Given the description of an element on the screen output the (x, y) to click on. 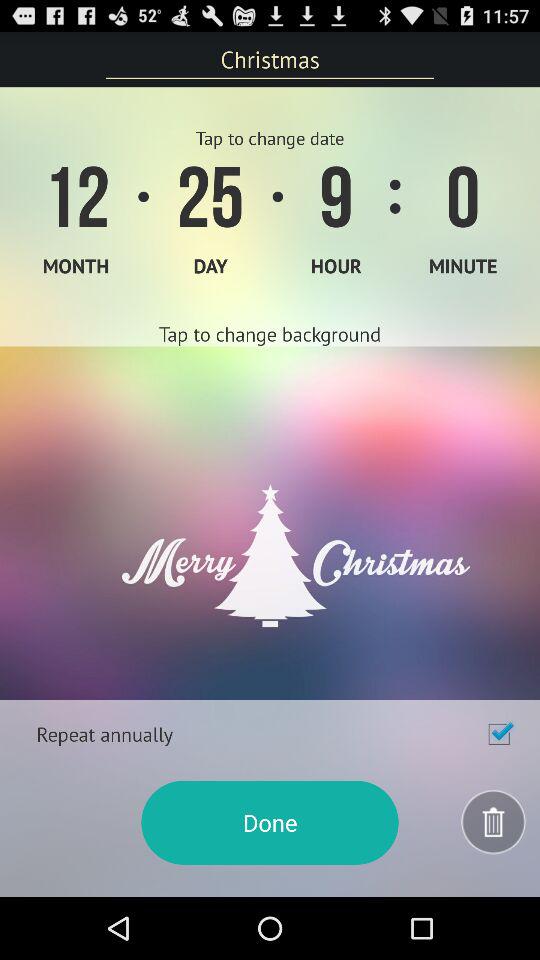
scroll until done item (269, 822)
